Given the description of an element on the screen output the (x, y) to click on. 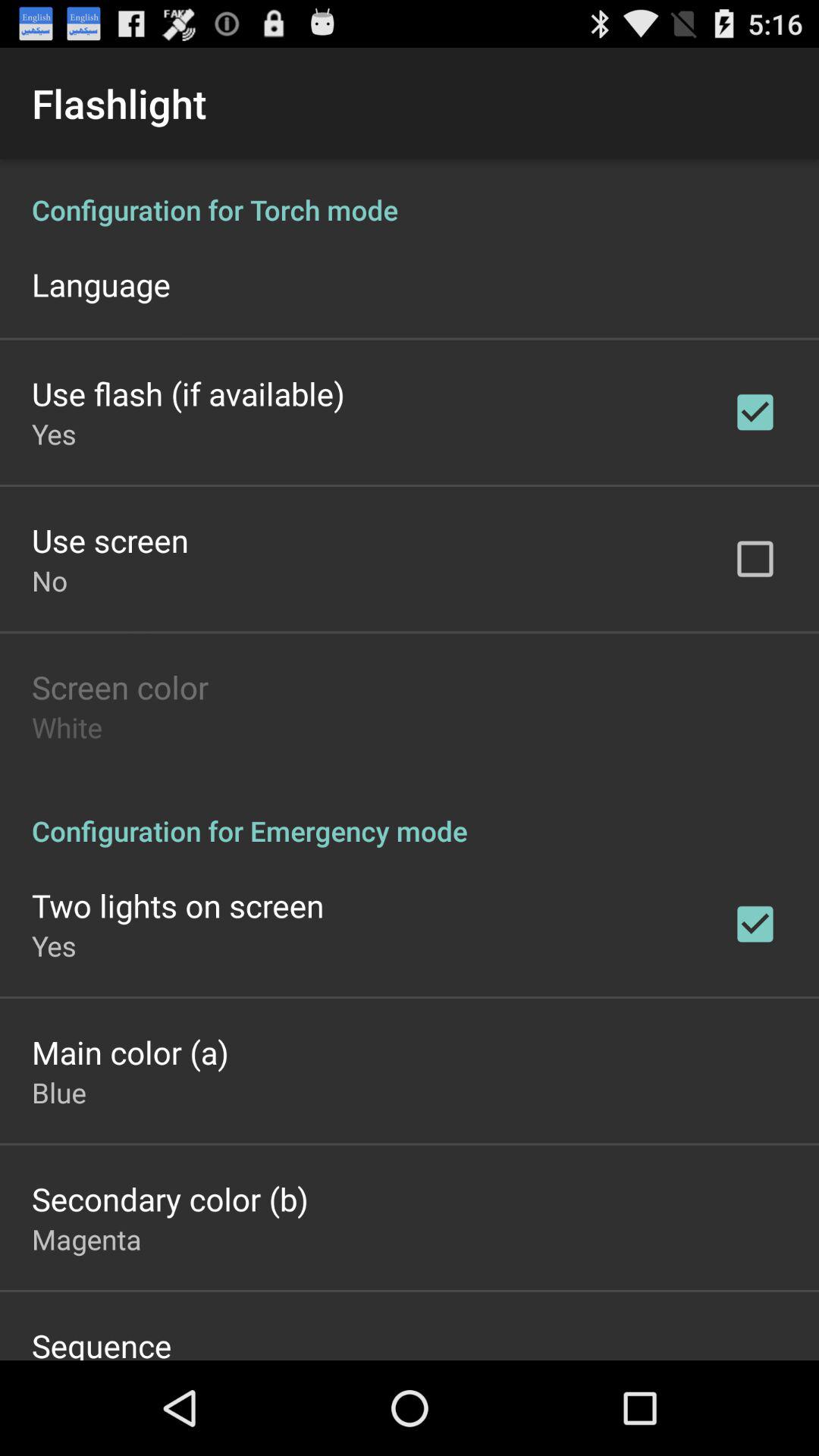
click blue app (58, 1092)
